Given the description of an element on the screen output the (x, y) to click on. 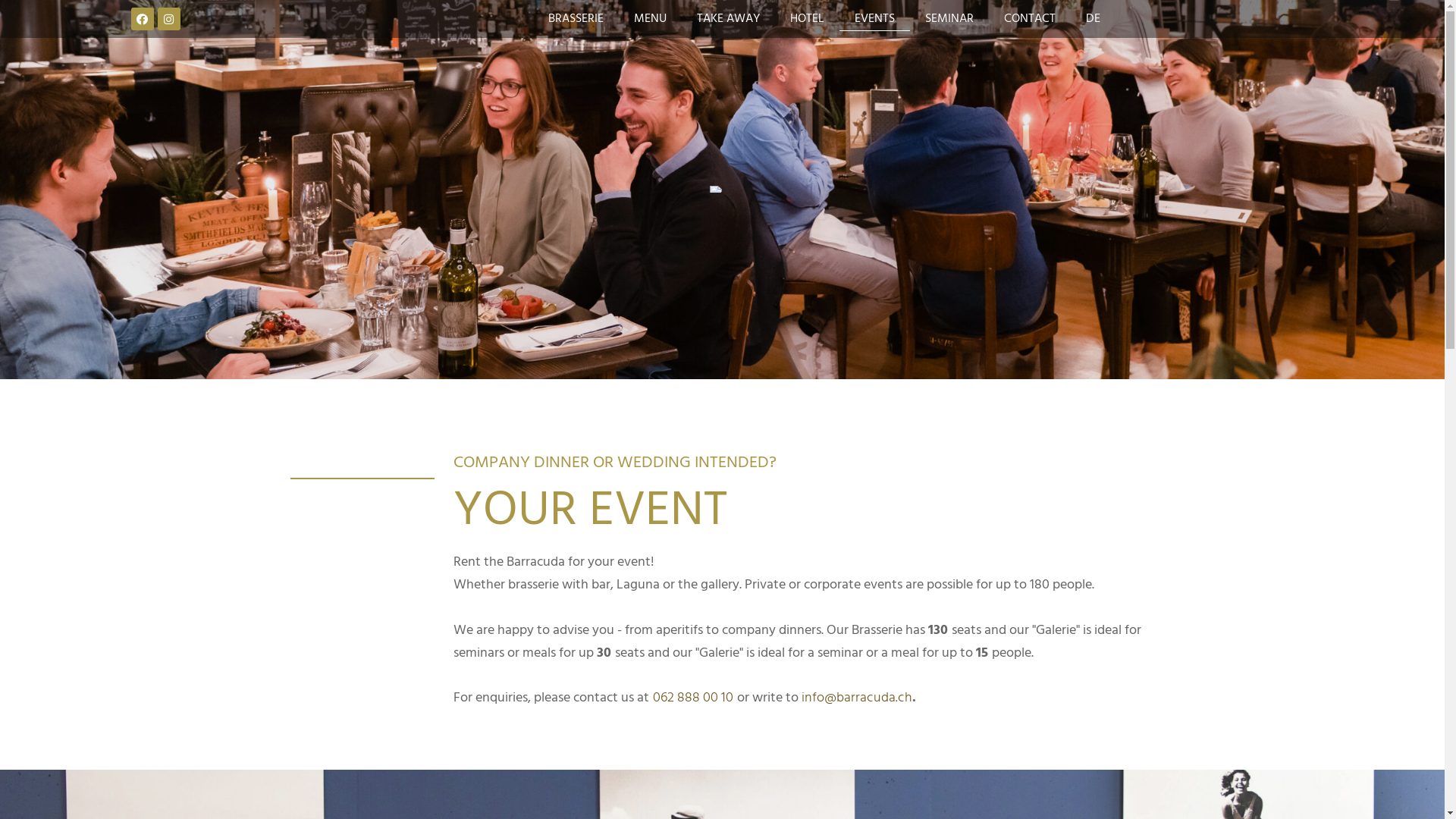
SEMINAR Element type: text (949, 18)
CONTACT Element type: text (1029, 18)
DE Element type: text (1092, 18)
MENU Element type: text (649, 18)
EVENTS Element type: text (874, 18)
BRASSERIE Element type: text (575, 18)
062 888 00 10 Element type: text (692, 698)
info@barracuda.ch Element type: text (856, 698)
HOTEL Element type: text (807, 18)
TAKE AWAY Element type: text (728, 18)
